Given the description of an element on the screen output the (x, y) to click on. 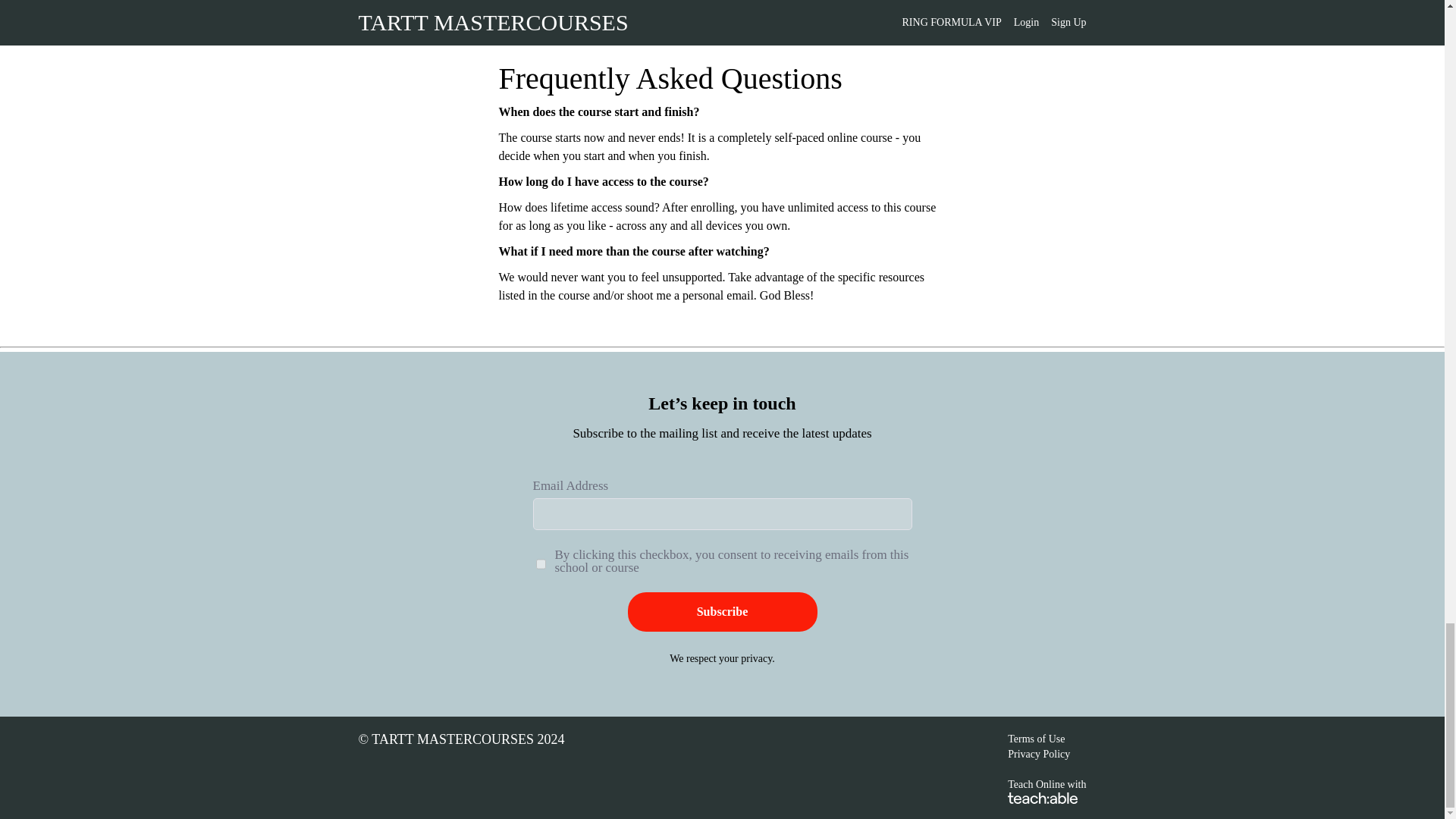
Terms of Use (1035, 738)
Subscribe (721, 611)
Teach Online with (1046, 790)
Privacy Policy (1038, 754)
